Given the description of an element on the screen output the (x, y) to click on. 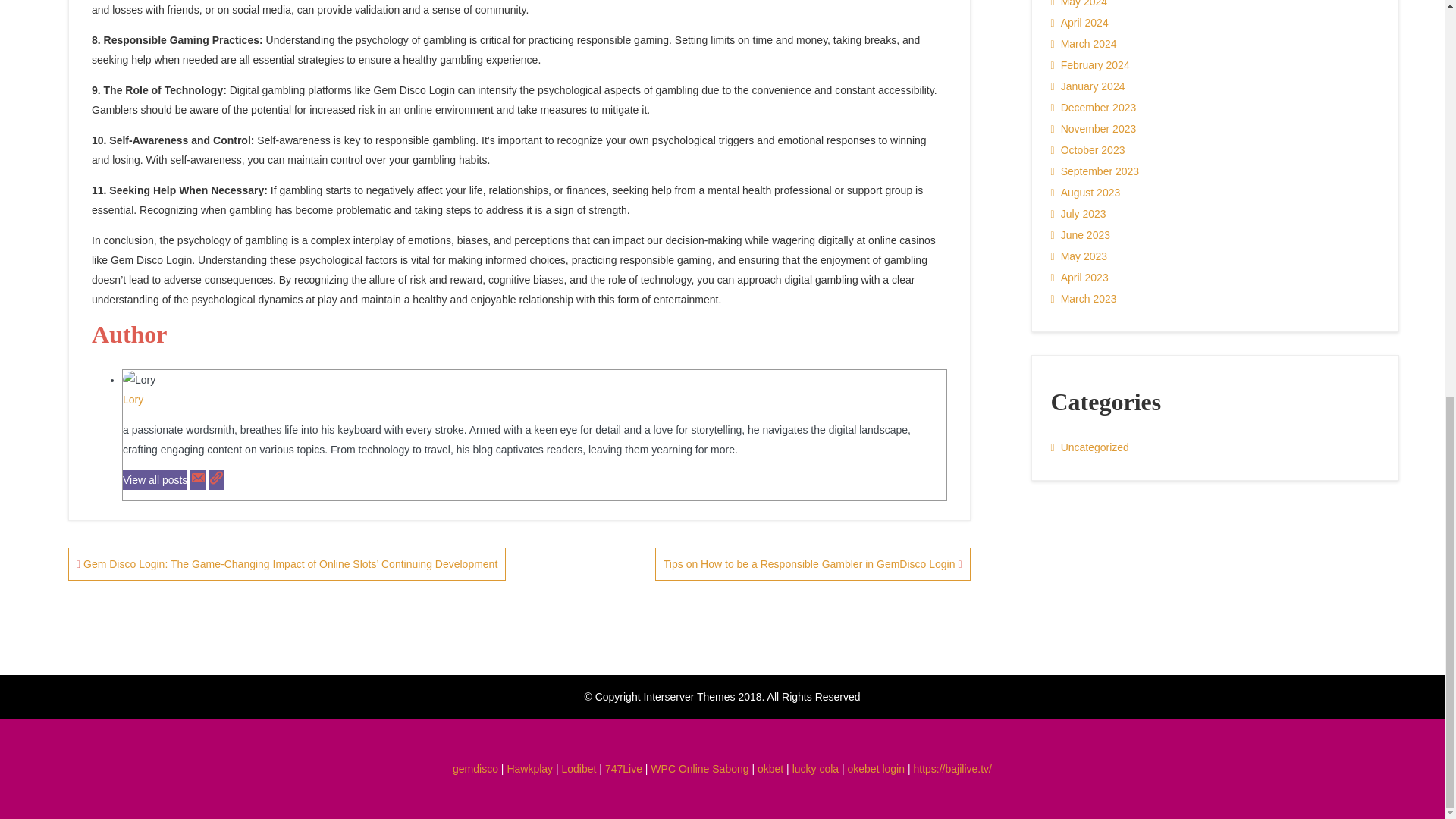
December 2023 (1094, 107)
March 2024 (1083, 43)
Lory (132, 399)
November 2023 (1094, 128)
View all posts (154, 479)
September 2023 (1095, 170)
View all posts (154, 479)
Tips on How to be a Responsible Gambler in GemDisco Login (813, 563)
July 2023 (1078, 213)
Lory (132, 399)
January 2024 (1088, 86)
March 2023 (1083, 298)
October 2023 (1088, 149)
June 2023 (1080, 234)
April 2024 (1079, 22)
